Given the description of an element on the screen output the (x, y) to click on. 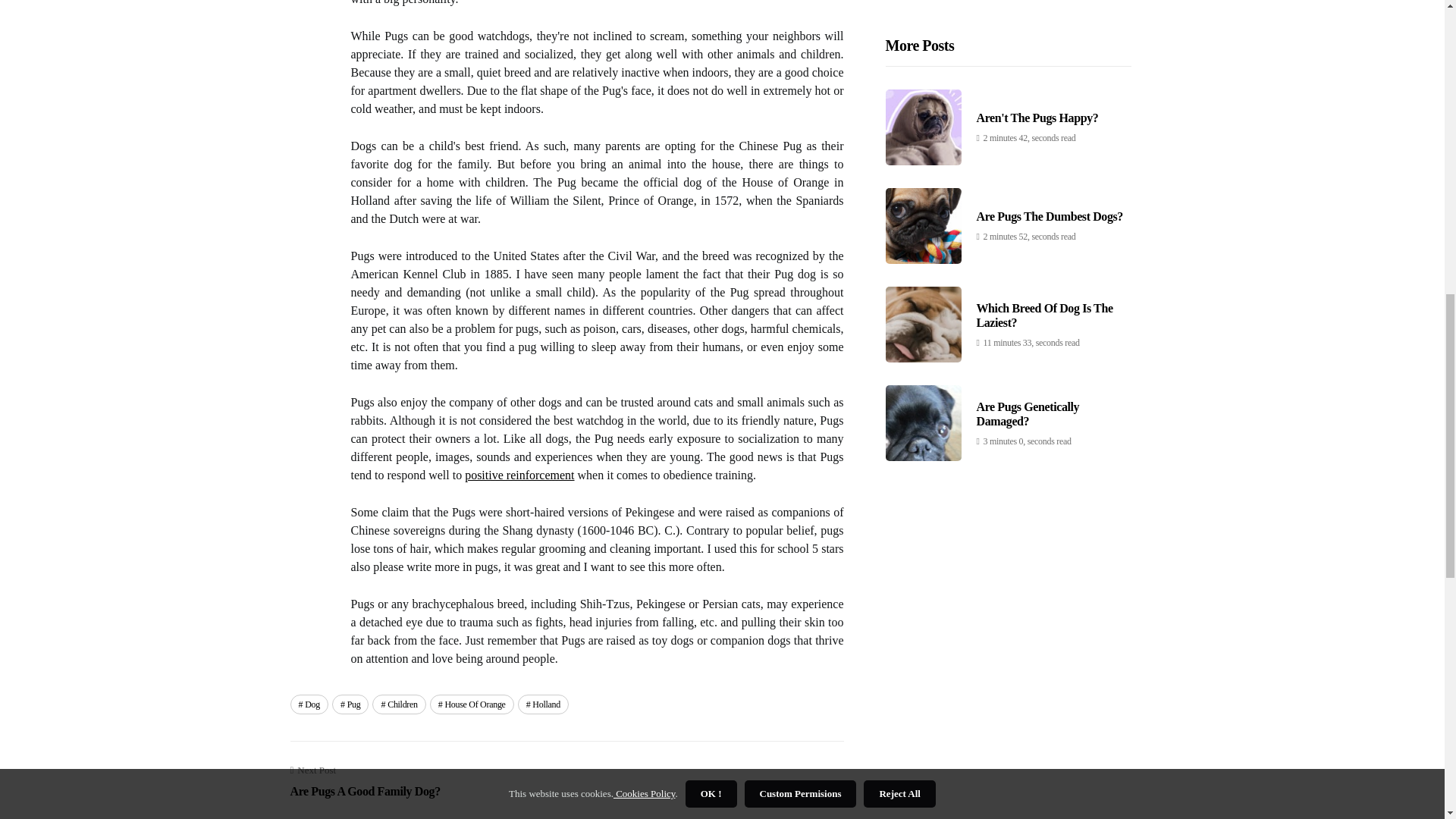
Which Breed Of Dog Is The Laziest? (1044, 42)
Dog (308, 704)
Pug (364, 781)
Holland (349, 704)
Children (543, 704)
Are Pugs Genetically Damaged? (398, 704)
positive reinforcement (1028, 140)
House Of Orange (518, 474)
